Given the description of an element on the screen output the (x, y) to click on. 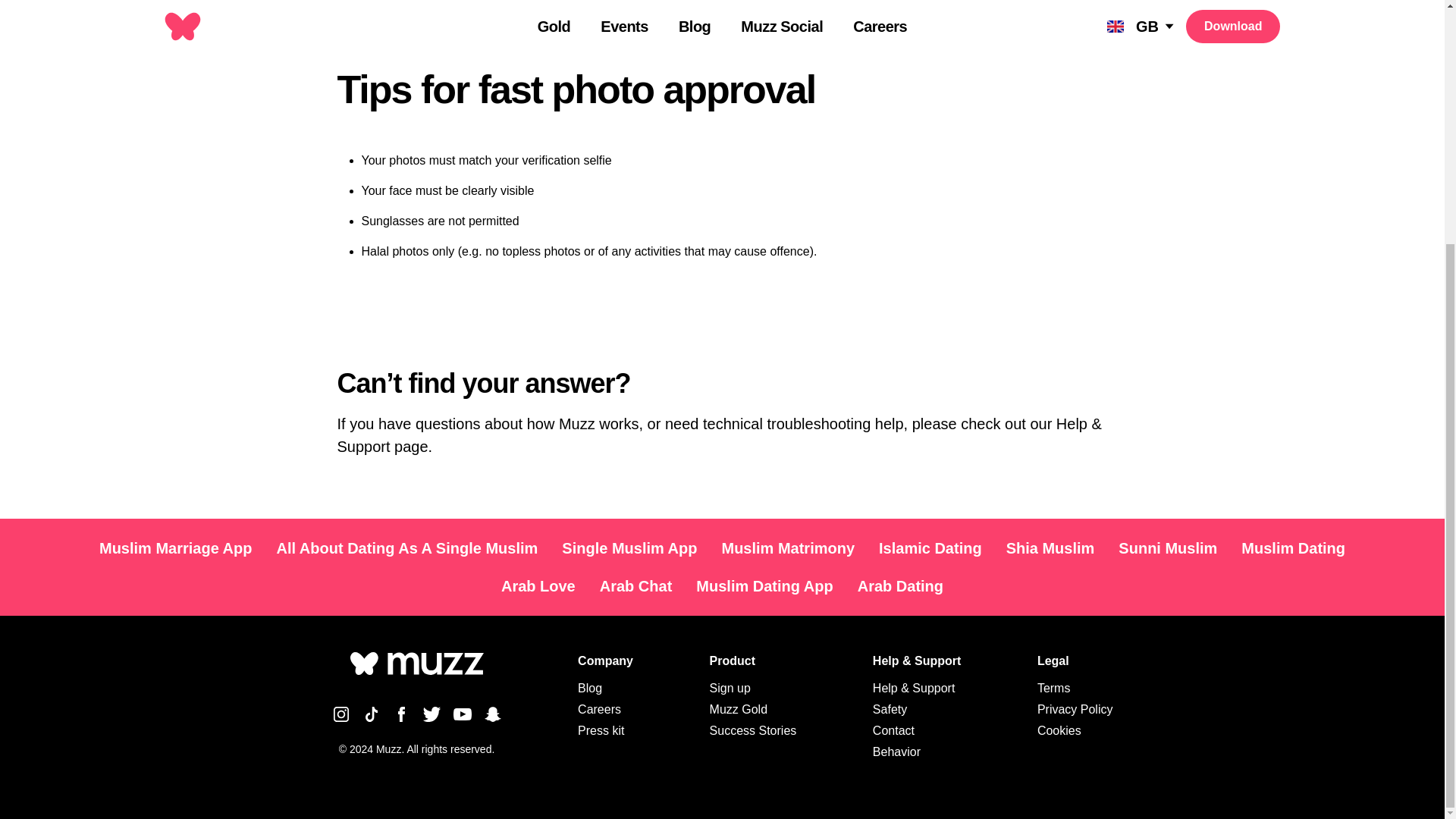
Arab Chat (636, 585)
Single Muslim App (629, 548)
Shia Muslim (1050, 548)
All About Dating As A Single Muslim (406, 548)
Arab Love (538, 585)
Success Stories (753, 730)
Arab Dating (900, 585)
Muslim Marriage App (175, 548)
Sunni Muslim (1167, 548)
Muslim Dating (1292, 548)
